Given the description of an element on the screen output the (x, y) to click on. 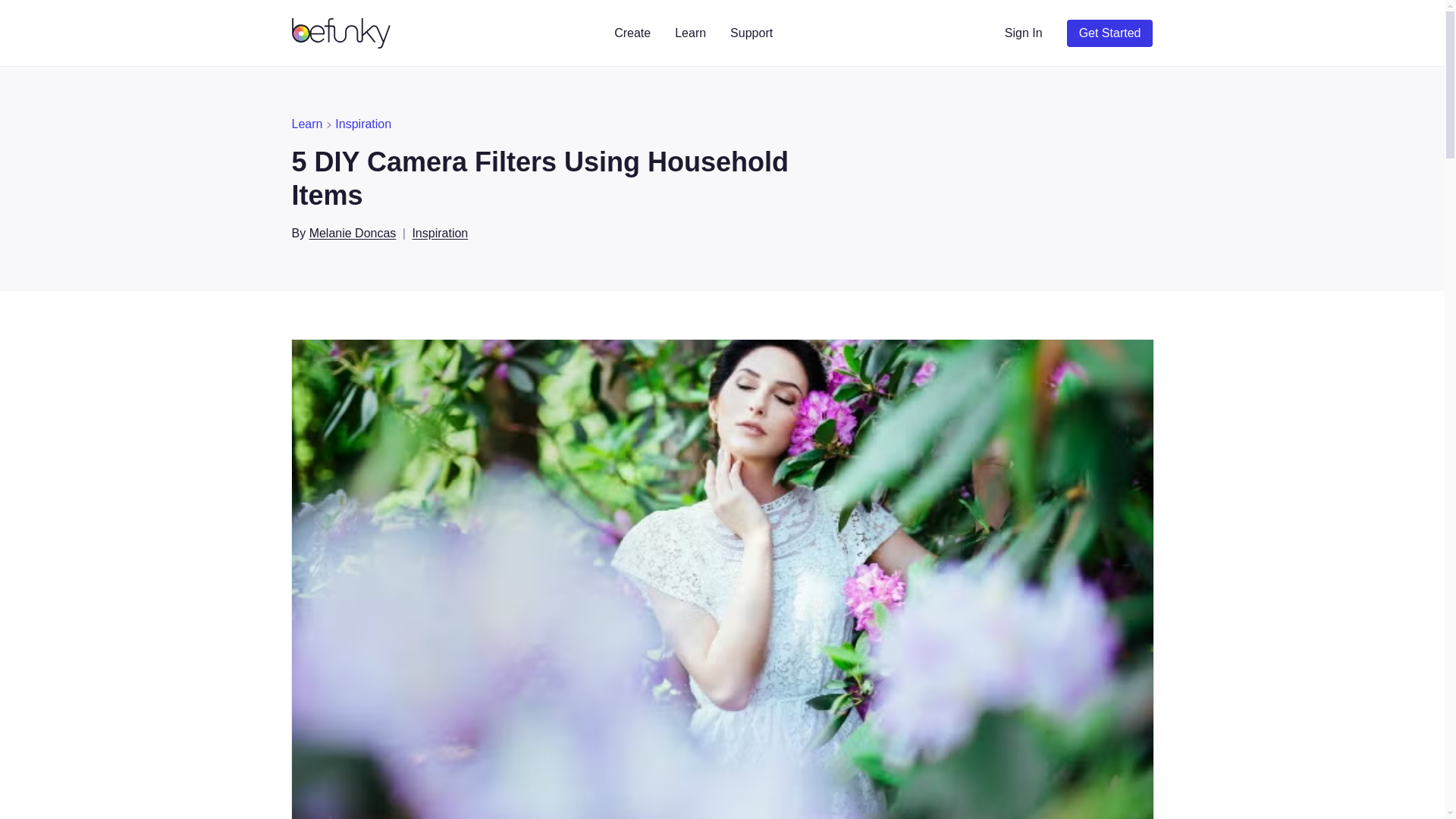
Sign In (1023, 32)
BeFunky (342, 33)
Get Started (1110, 32)
Support (750, 32)
